Given the description of an element on the screen output the (x, y) to click on. 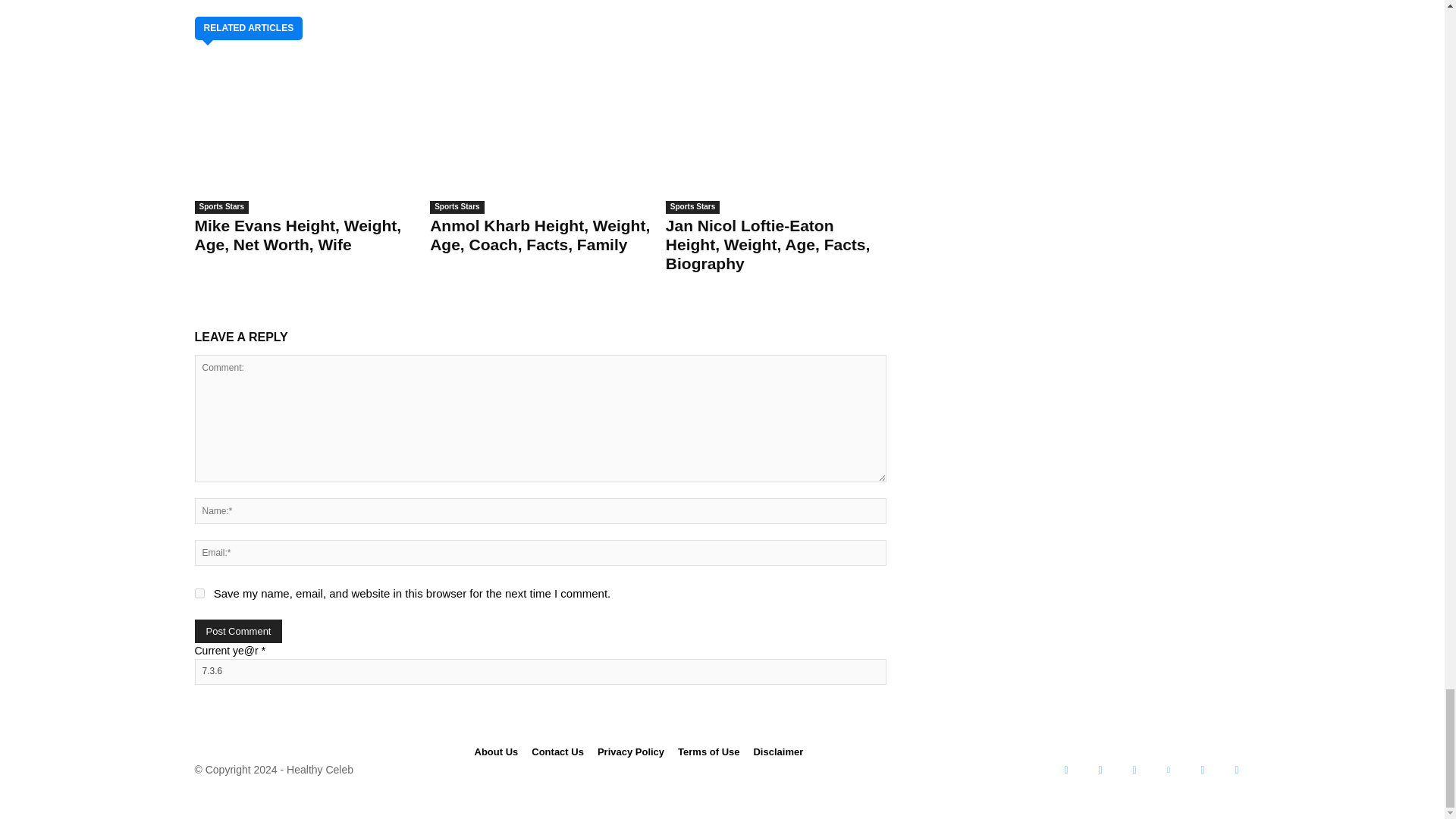
yes (198, 593)
Post Comment (237, 630)
7.3.6 (539, 671)
